Given the description of an element on the screen output the (x, y) to click on. 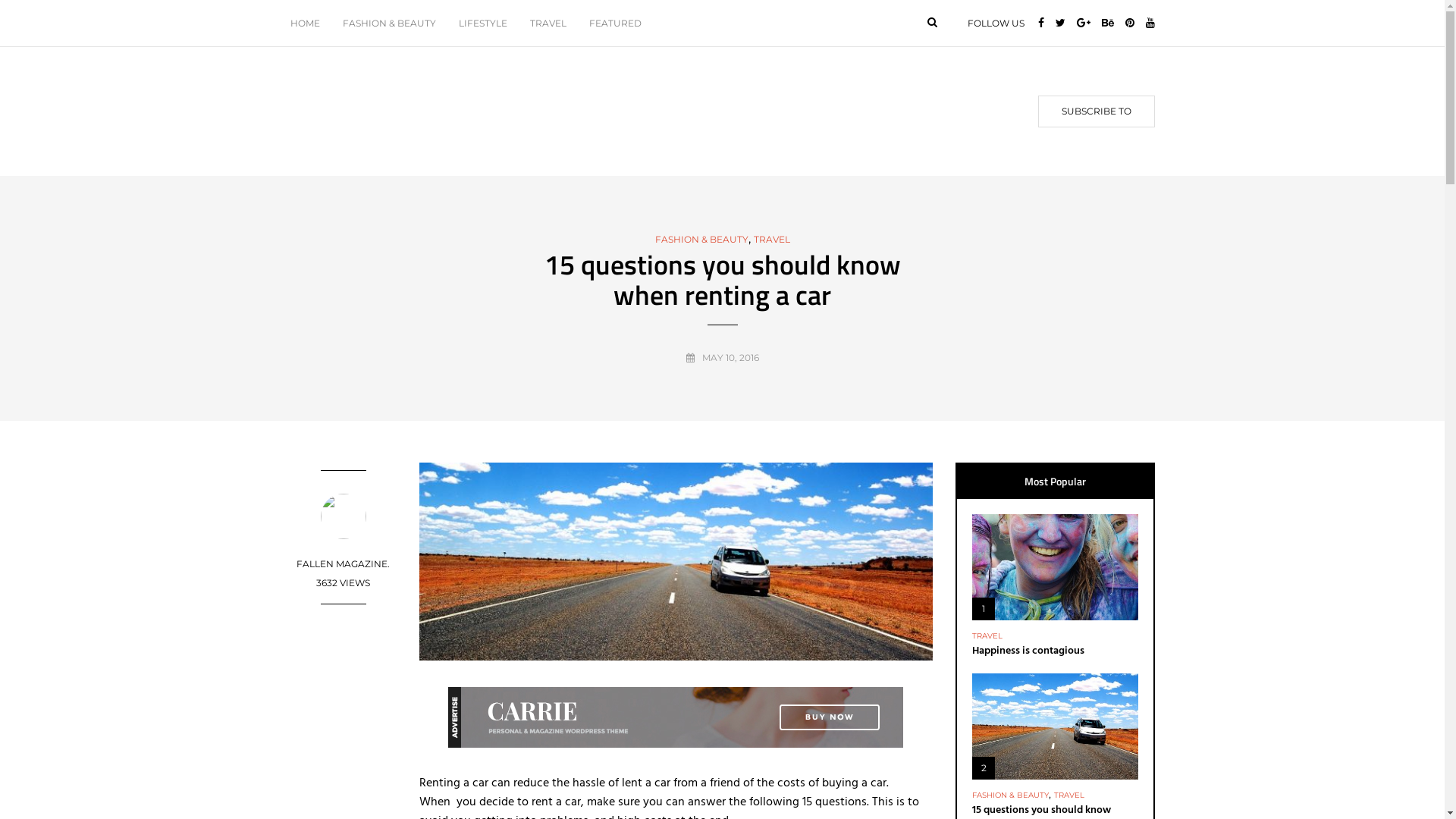
LIFESTYLE Element type: text (482, 23)
TRAVEL Element type: text (771, 239)
TRAVEL Element type: text (987, 635)
FALLEN MAGAZINE. Element type: text (342, 563)
Happiness is contagious Element type: text (1028, 650)
HOME Element type: text (309, 23)
FASHION & BEAUTY Element type: text (1010, 795)
TRAVEL Element type: text (1069, 795)
FASHION & BEAUTY Element type: text (701, 239)
1 Element type: text (1055, 567)
FASHION & BEAUTY Element type: text (388, 23)
2 Element type: text (1055, 726)
TRAVEL Element type: text (547, 23)
SUBSCRIBE TO Element type: text (1095, 111)
FEATURED Element type: text (614, 23)
